Given the description of an element on the screen output the (x, y) to click on. 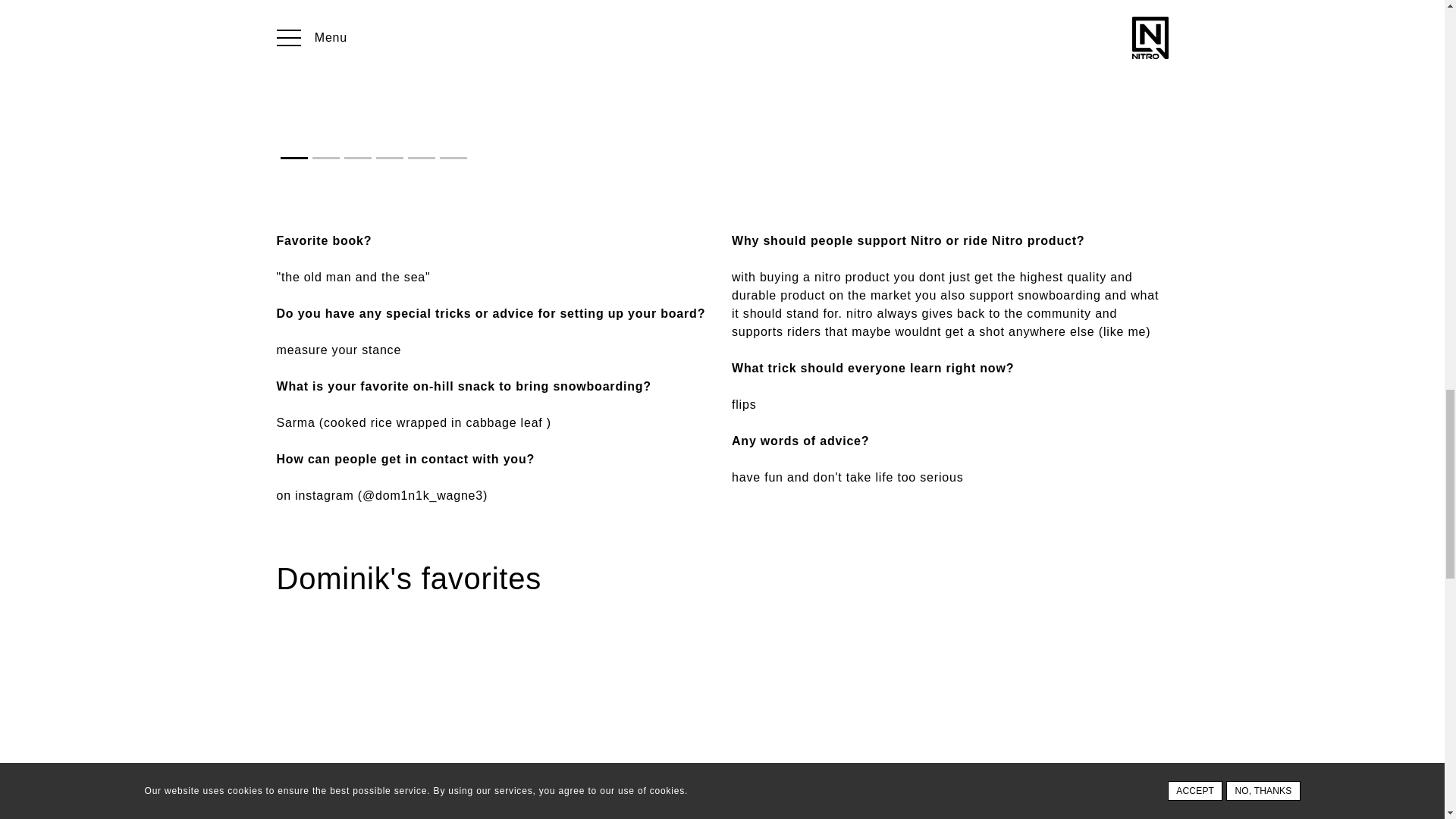
4 (389, 157)
3 (357, 157)
5 (421, 157)
6 (453, 157)
2 (326, 157)
1 (294, 157)
